Given the description of an element on the screen output the (x, y) to click on. 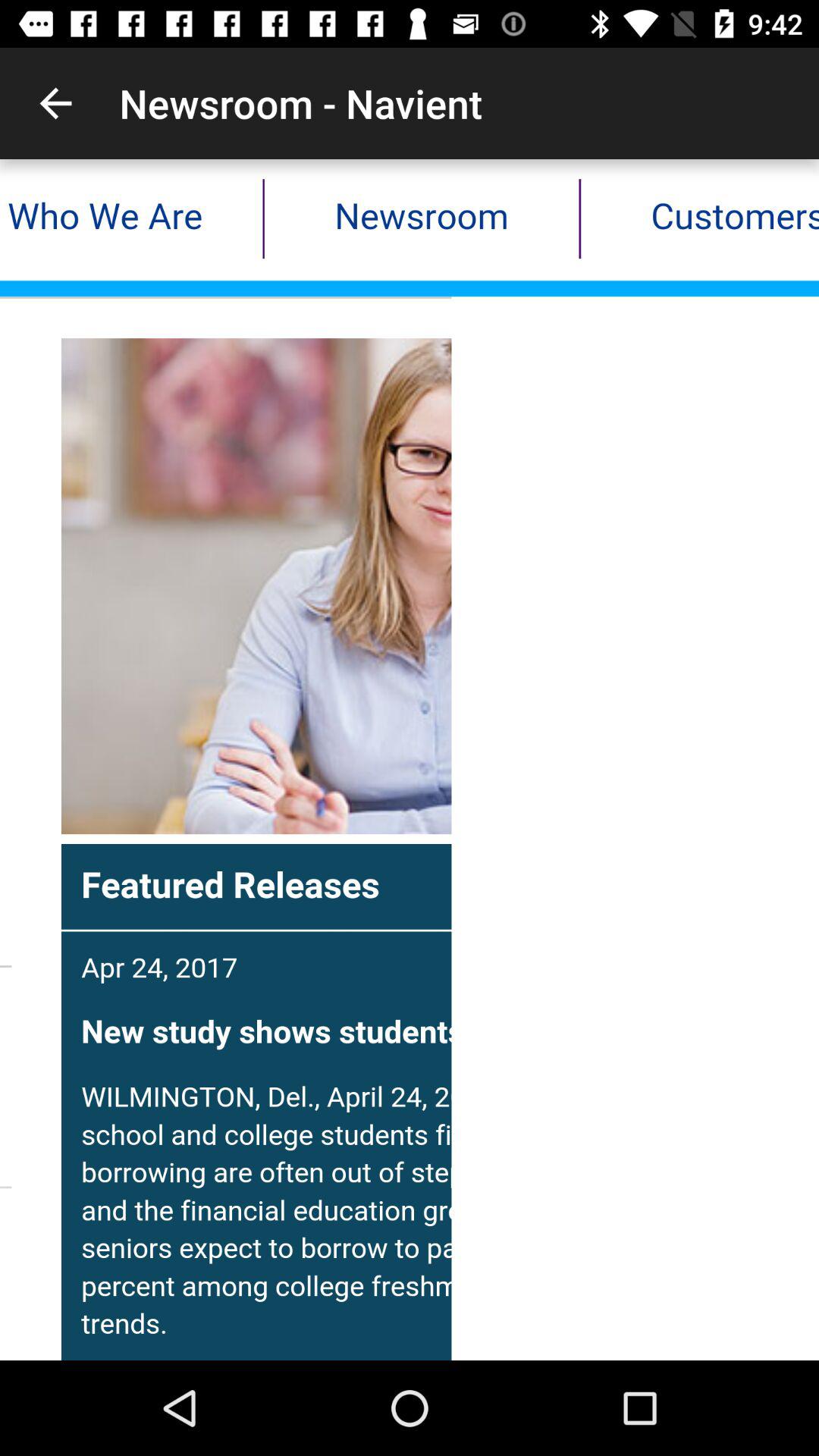
newsroom app news content (409, 759)
